Given the description of an element on the screen output the (x, y) to click on. 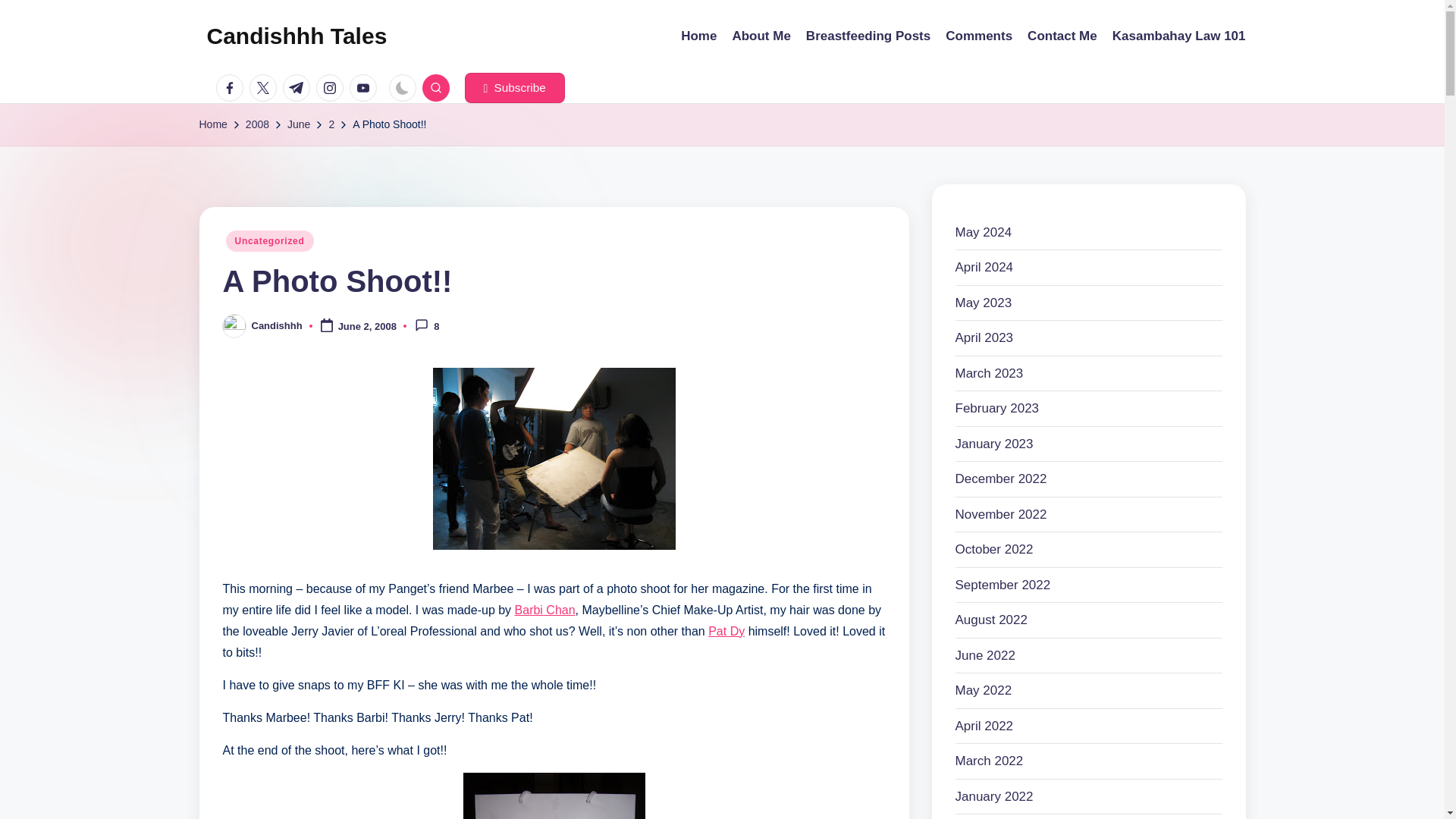
Candishhh (276, 325)
June (298, 124)
Uncategorized (269, 240)
twitter.com (265, 87)
View all posts by Candishhh (276, 325)
Comments (977, 36)
Breastfeeding Posts (868, 36)
8 (426, 325)
Candishhh Tales (296, 36)
facebook.com (231, 87)
